Given the description of an element on the screen output the (x, y) to click on. 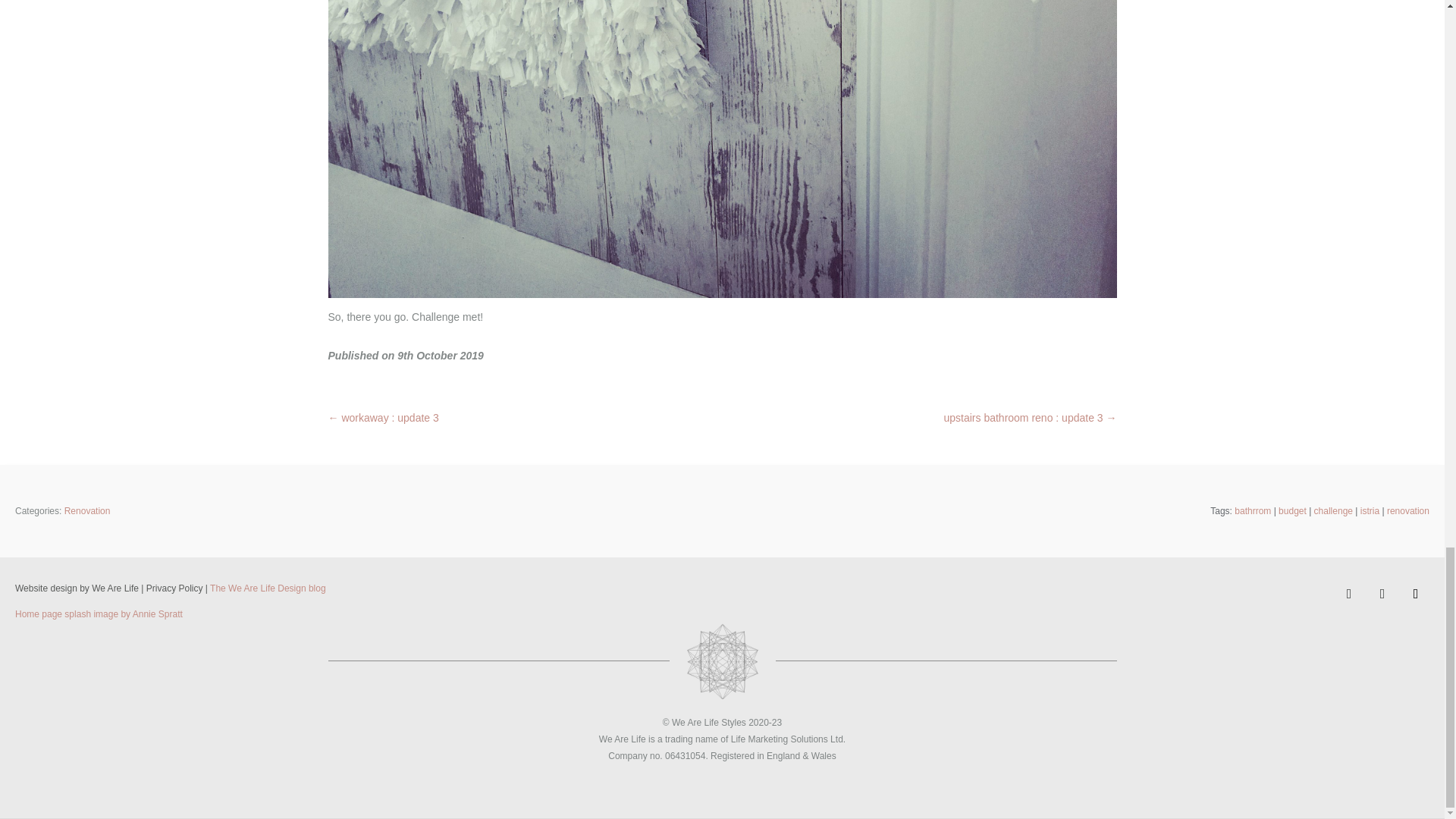
Home page splash image by Annie Spratt (98, 614)
Follow on Instagram (1415, 593)
Follow on Facebook (1348, 593)
The We Are Life Design blog (267, 588)
renovation (1408, 510)
istria (1368, 510)
Follow on X (1382, 593)
bathrrom (1252, 510)
budget (1292, 510)
Renovation (87, 510)
